Given the description of an element on the screen output the (x, y) to click on. 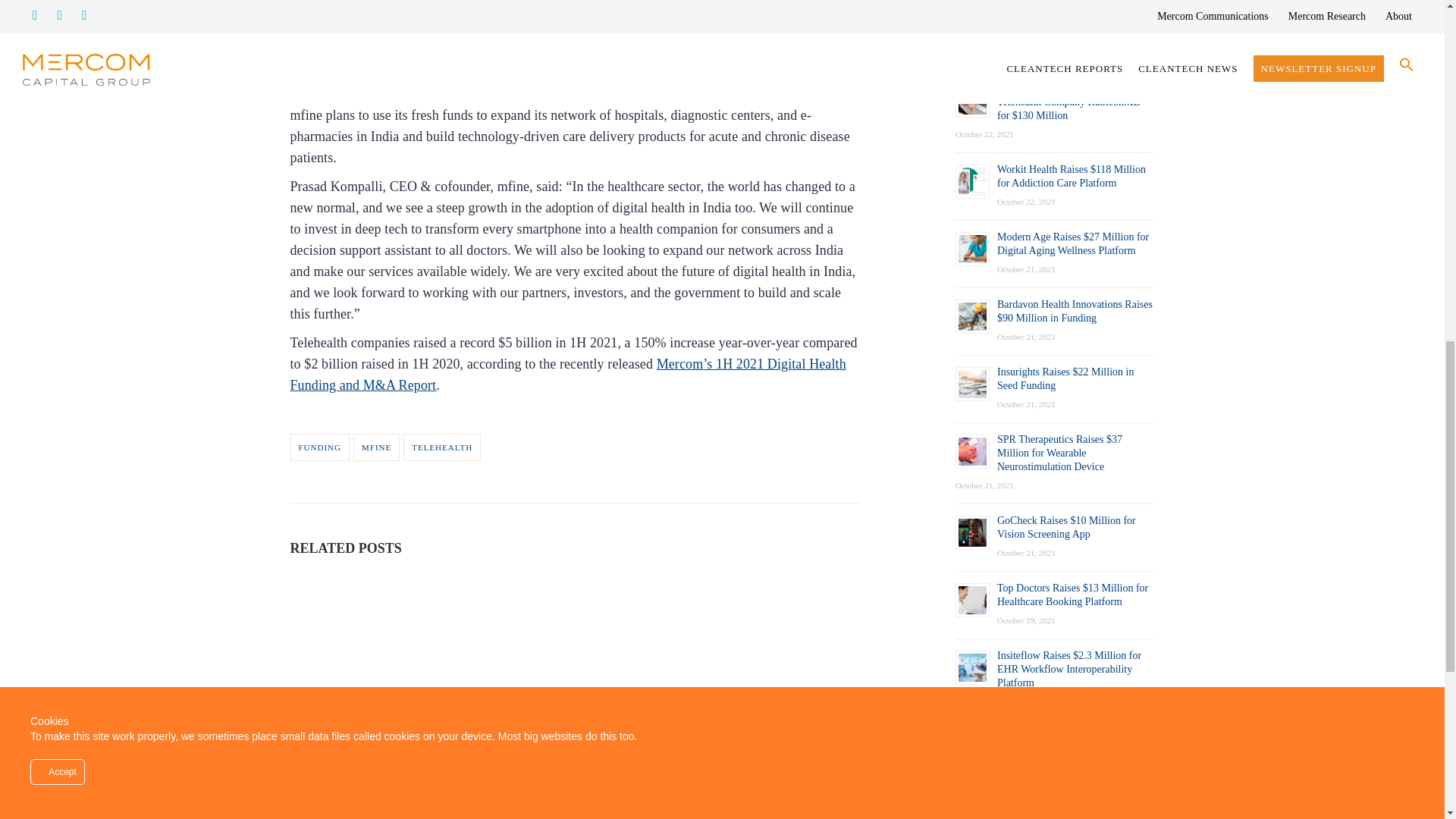
TELEHEALTH (441, 447)
MFINE (375, 447)
FUNDING (319, 447)
